Given the description of an element on the screen output the (x, y) to click on. 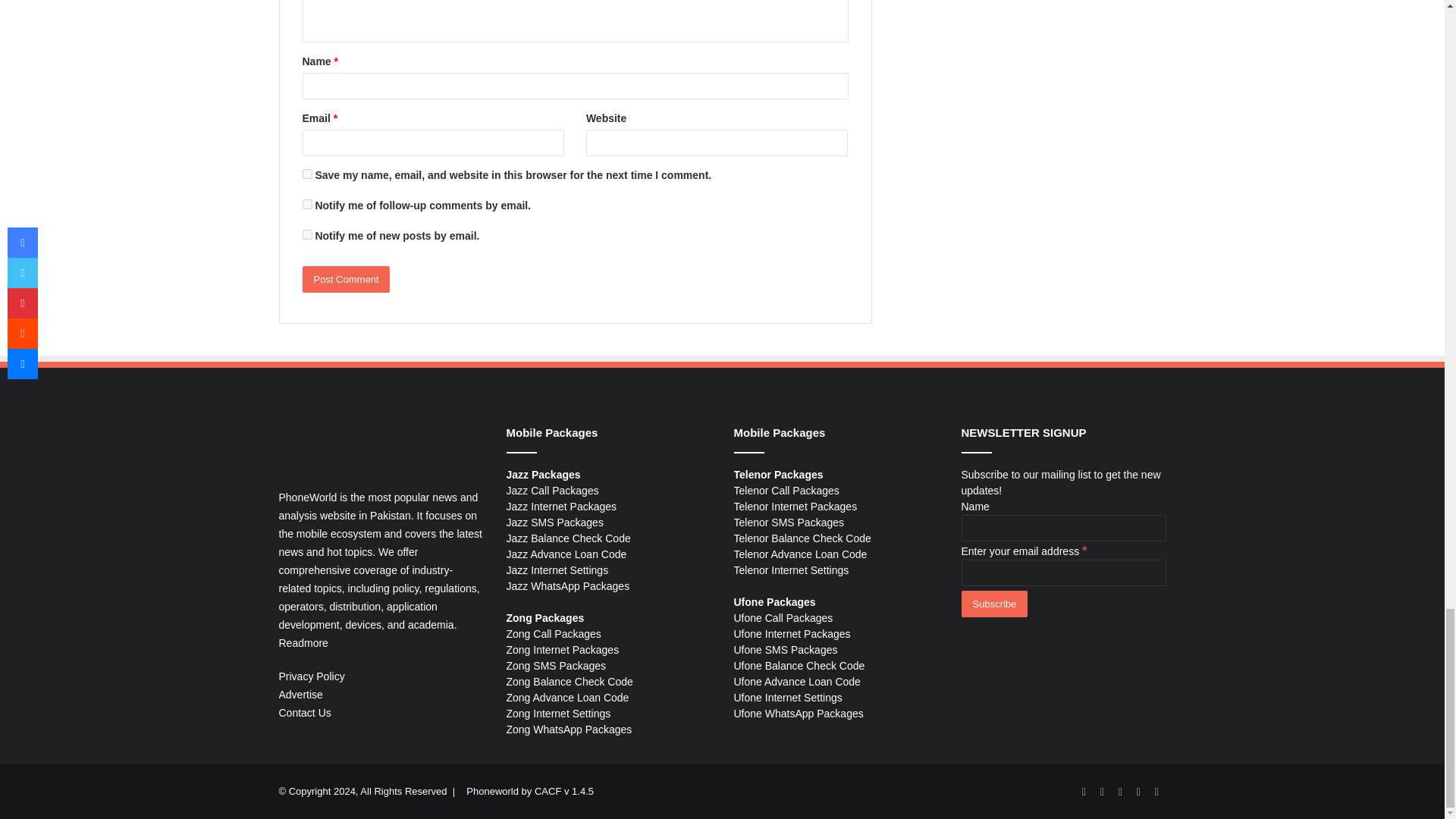
Subscribe (993, 603)
subscribe (306, 204)
Post Comment (345, 279)
subscribe (306, 234)
yes (306, 173)
